Given the description of an element on the screen output the (x, y) to click on. 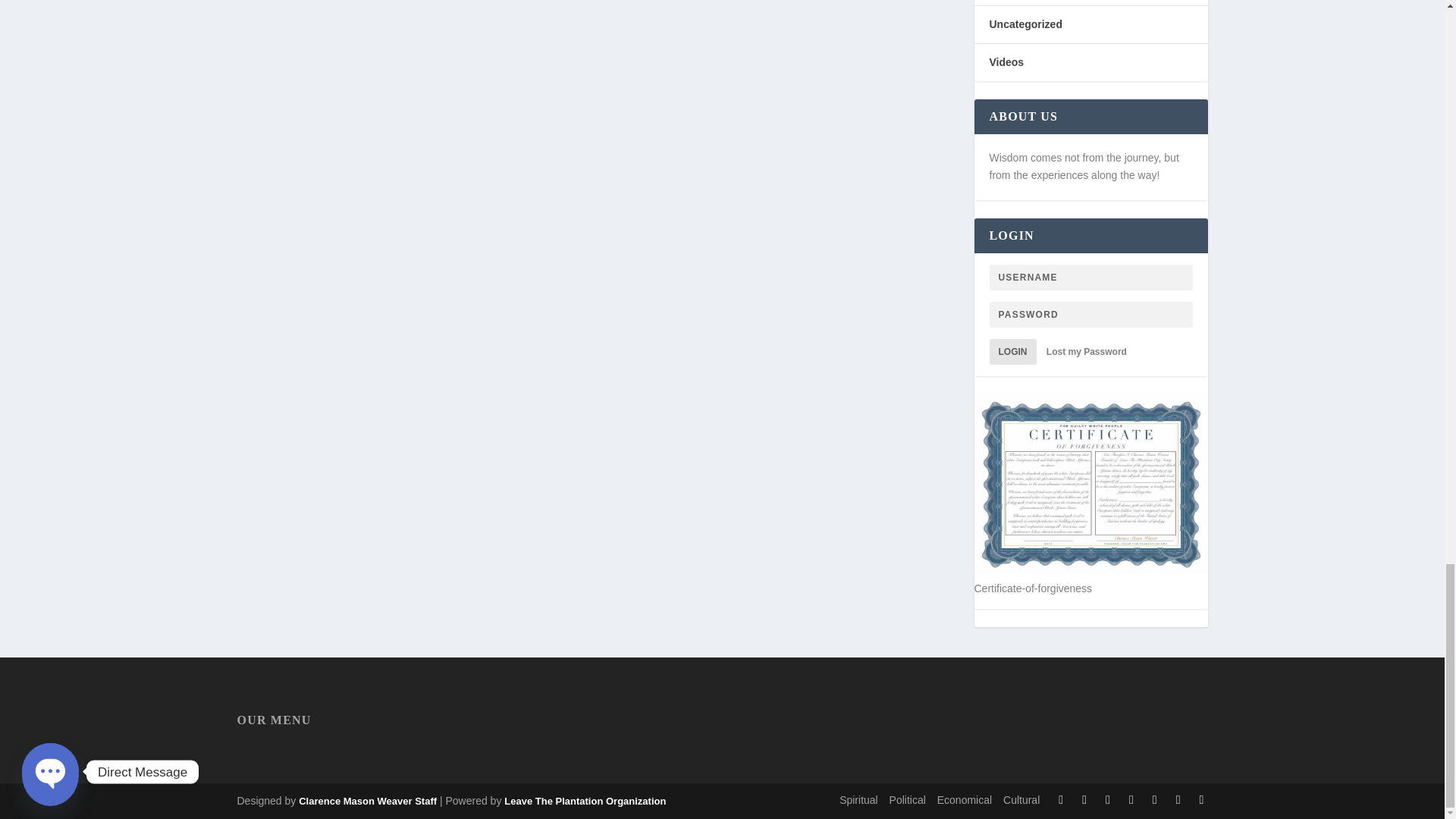
Leave the Plantation Organization (367, 800)
